Given the description of an element on the screen output the (x, y) to click on. 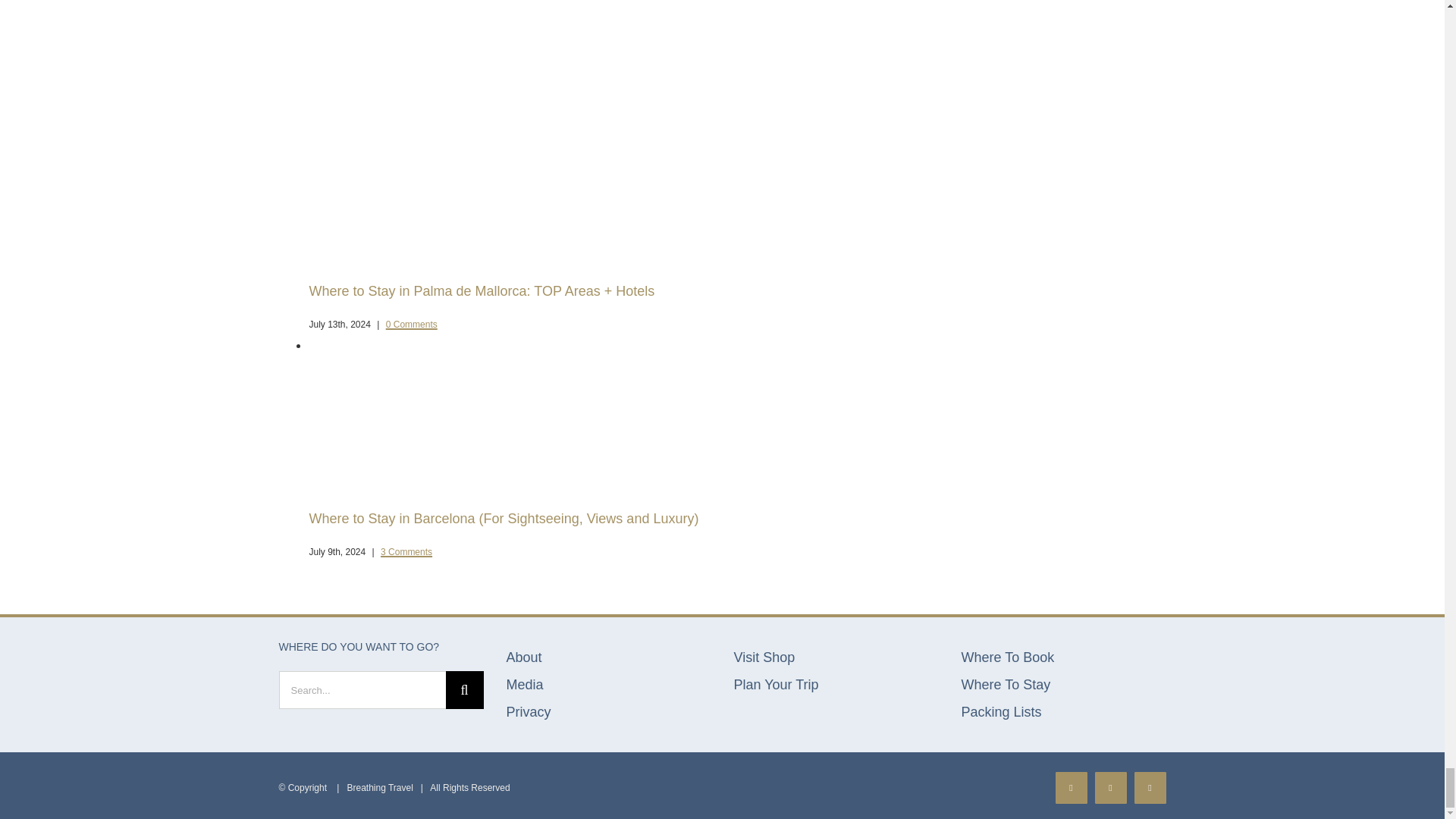
Instagram (1110, 787)
Pinterest (1150, 787)
Facebook (1071, 787)
